Given the description of an element on the screen output the (x, y) to click on. 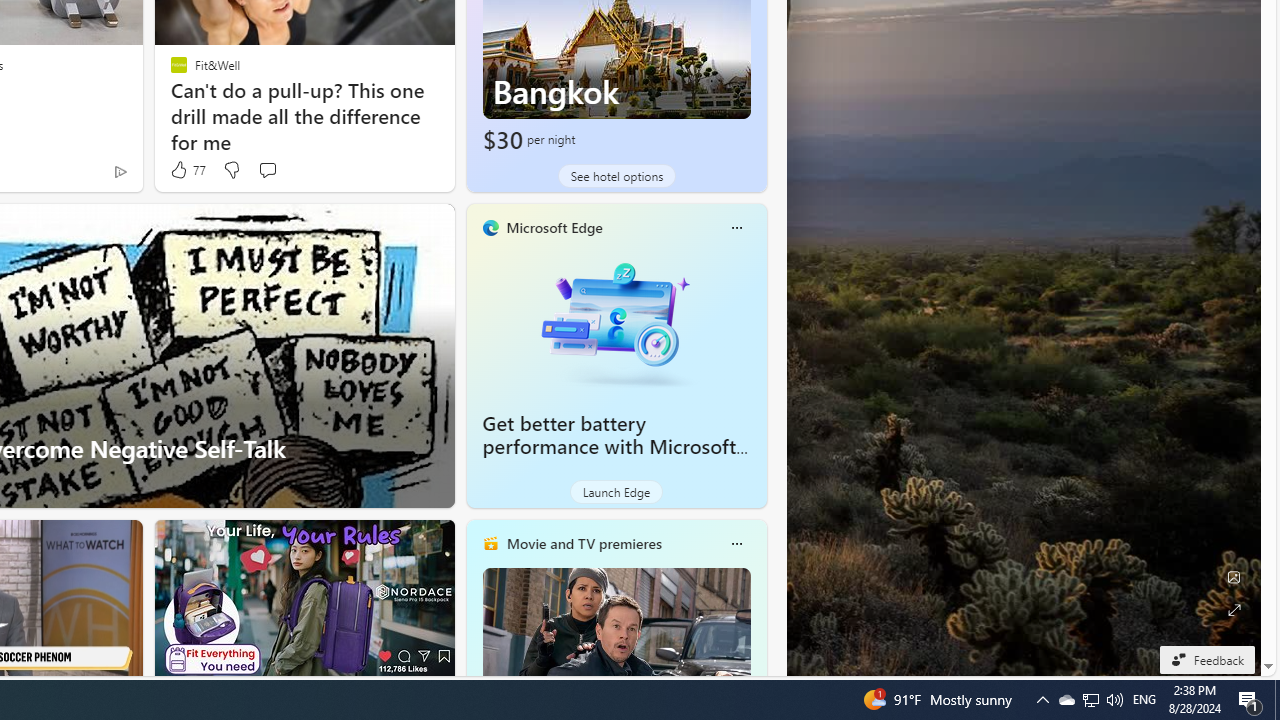
Get better battery performance with Microsoft Edge (609, 446)
Expand background (1233, 610)
Movie and TV premieres (583, 543)
See hotel options (615, 175)
Launch Edge (616, 491)
Microsoft Edge (553, 227)
77 Like (186, 170)
Edit Background (1233, 577)
